Given the description of an element on the screen output the (x, y) to click on. 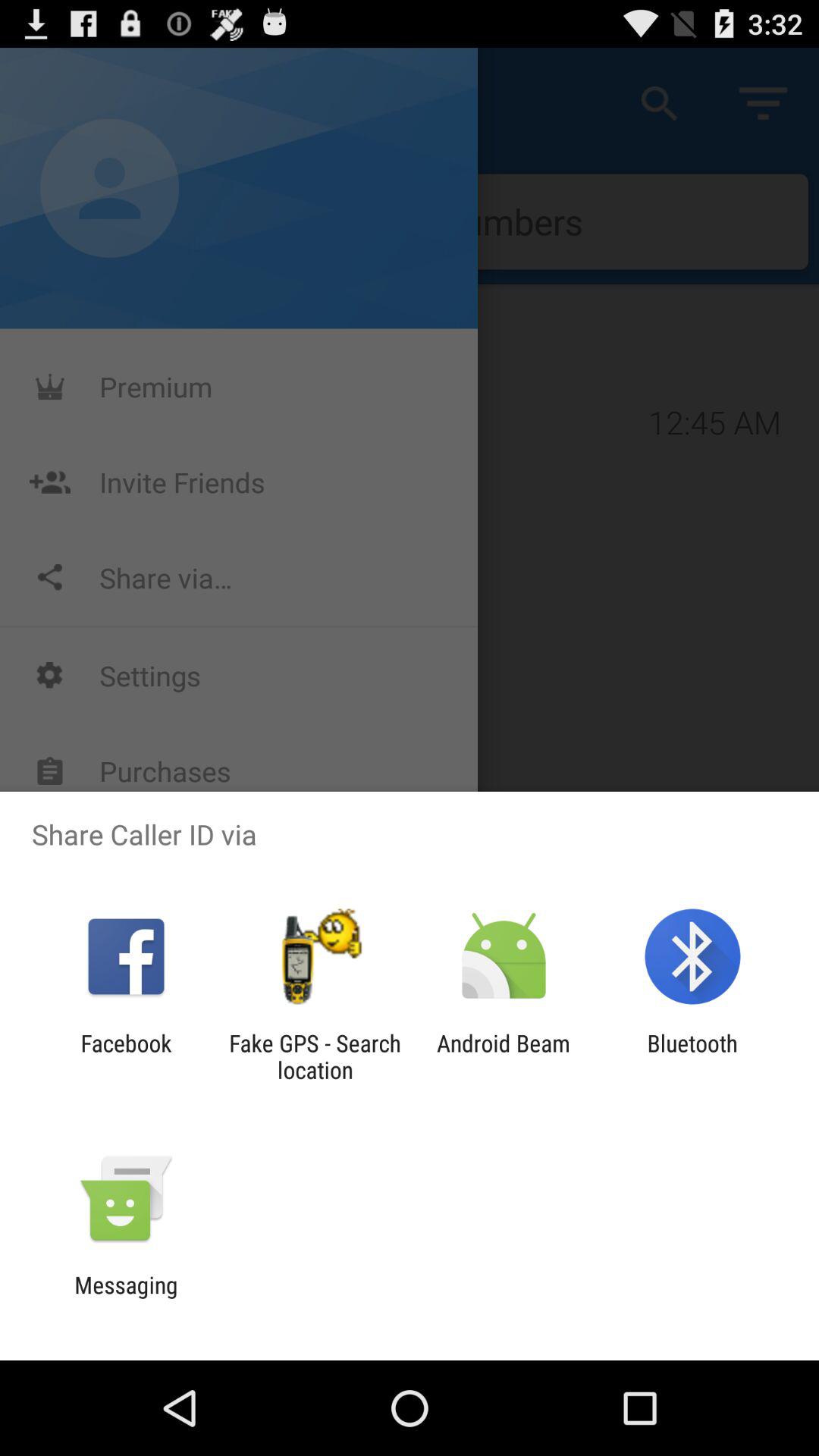
turn off the facebook app (125, 1056)
